Given the description of an element on the screen output the (x, y) to click on. 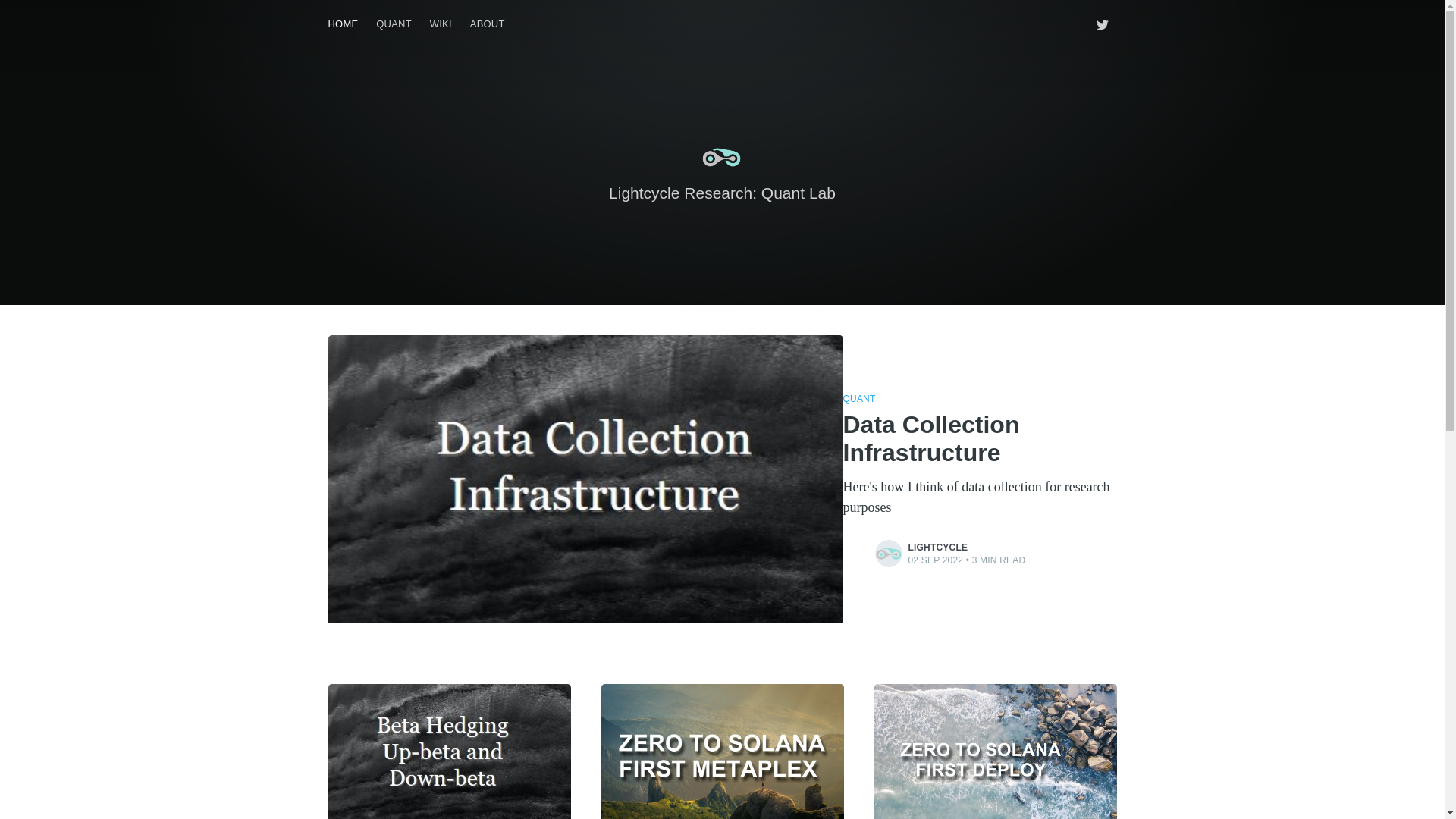
QUANT (859, 398)
QUANT (393, 24)
LIGHTCYCLE (938, 547)
WIKI (440, 24)
HOME (342, 24)
ABOUT (487, 24)
